Given the description of an element on the screen output the (x, y) to click on. 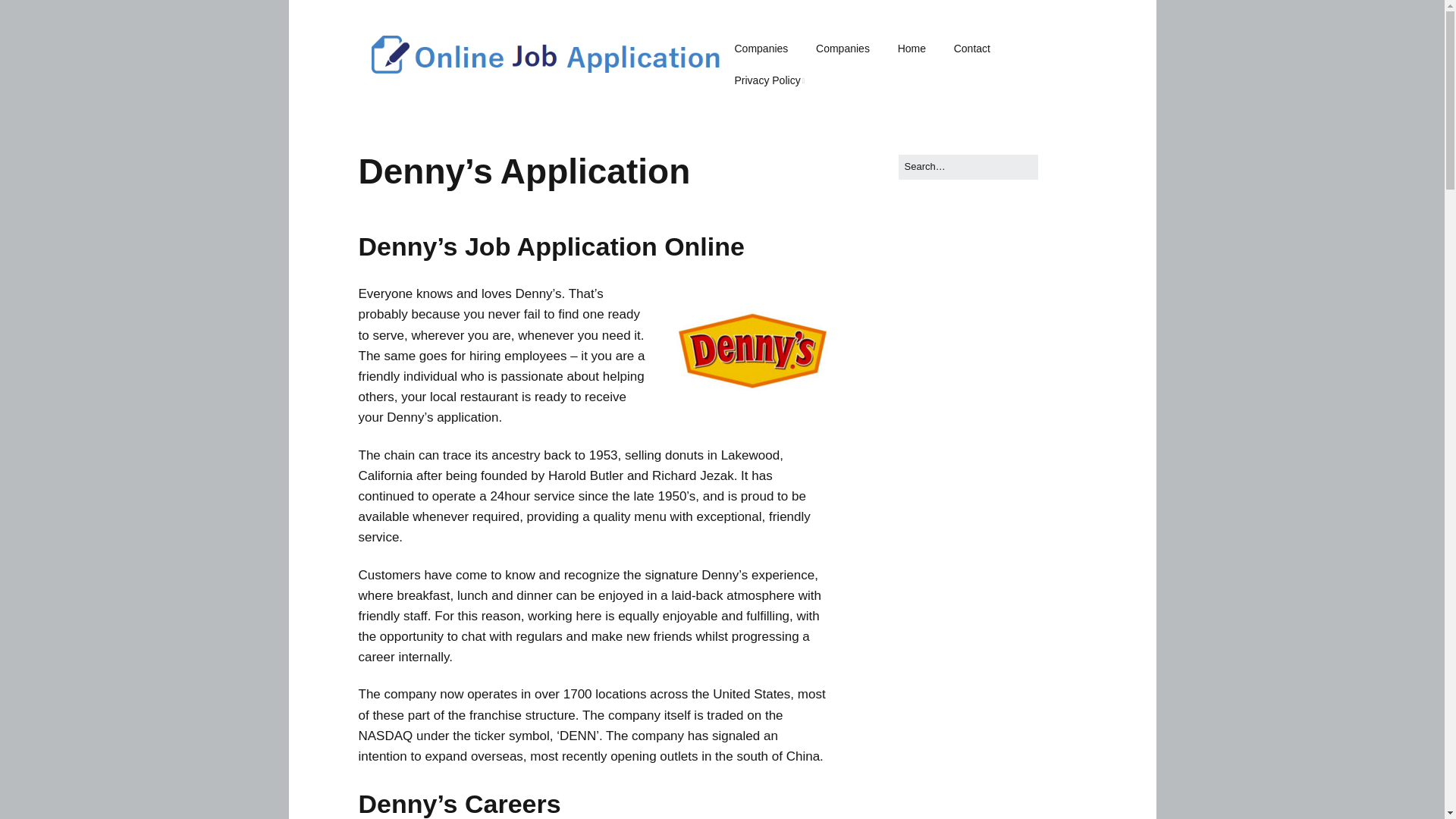
Companies (842, 49)
Contact (972, 49)
Home (911, 49)
Privacy Policy (769, 81)
Press Enter to submit your search (968, 166)
Companies (760, 49)
